Given the description of an element on the screen output the (x, y) to click on. 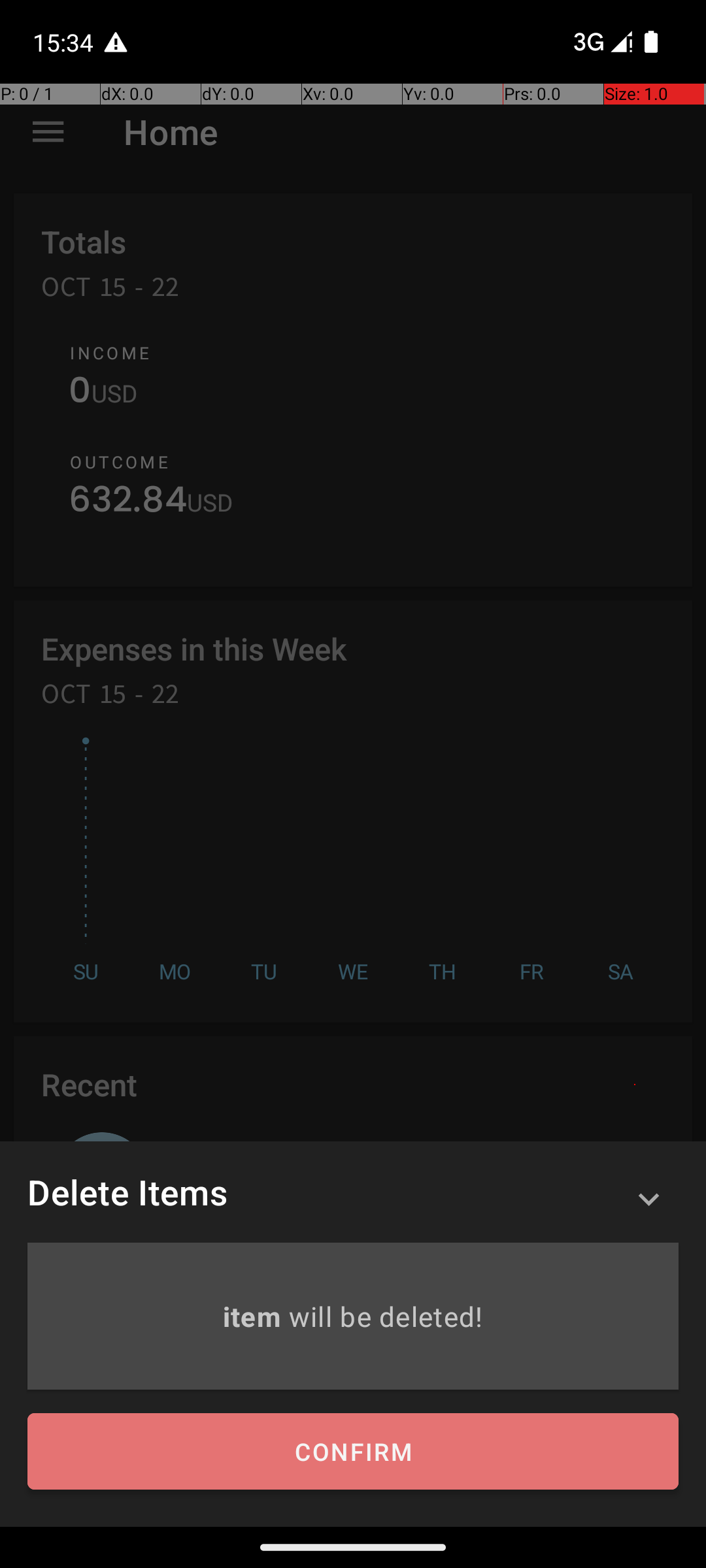
Delete Items Element type: android.widget.TextView (127, 1191)
item  Element type: android.widget.TextView (255, 1315)
will be deleted! Element type: android.widget.TextView (385, 1315)
CONFIRM Element type: android.widget.Button (352, 1451)
